Given the description of an element on the screen output the (x, y) to click on. 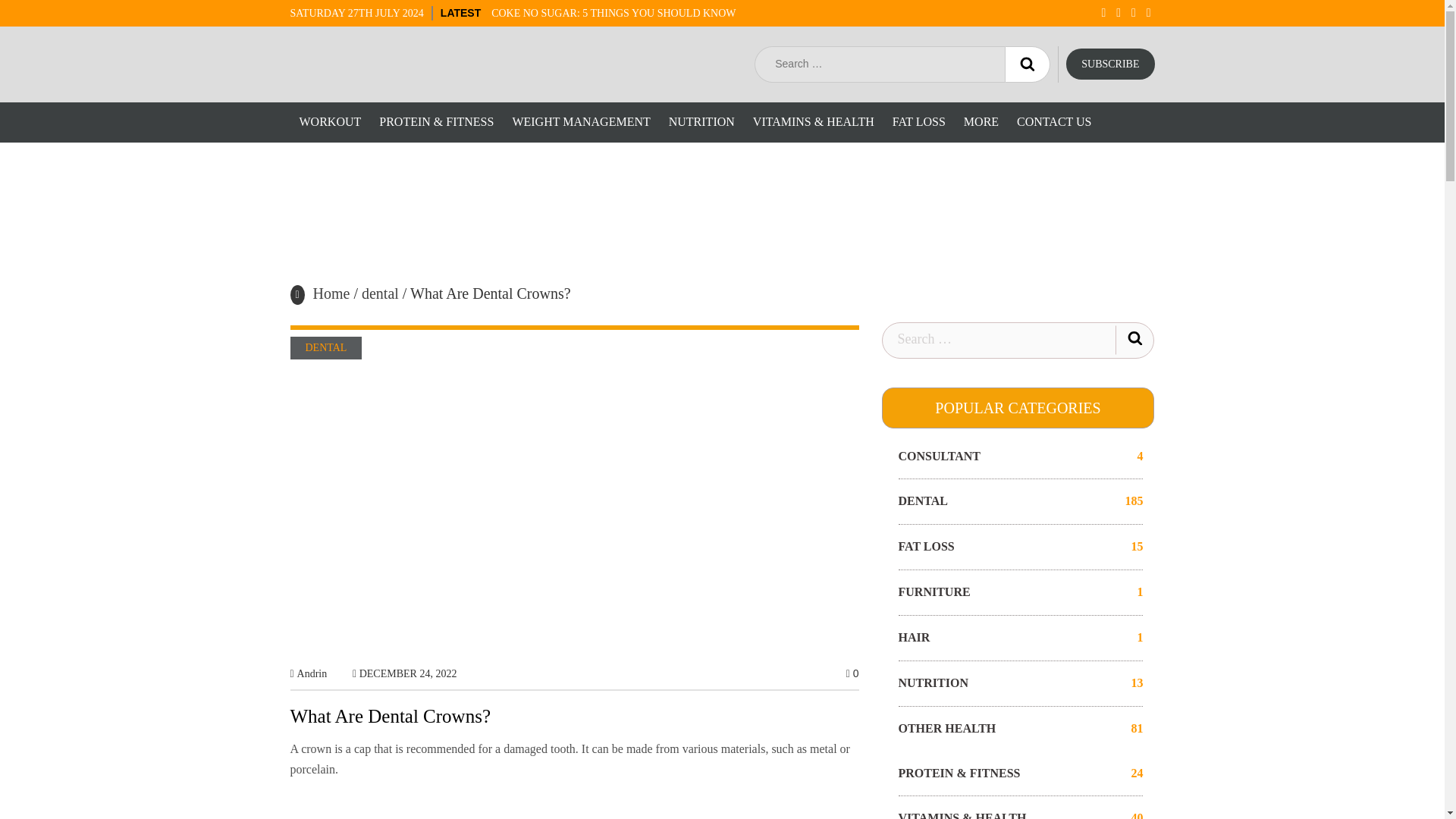
NUTRITION (701, 122)
DENTAL (325, 347)
Home (331, 293)
COKE NO SUGAR: 5 THINGS YOU SHOULD KNOW (613, 12)
CONTACT US (1053, 122)
WEIGHT MANAGEMENT (580, 122)
FAT LOSS (919, 122)
SUBSCRIBE (1109, 63)
dental (379, 293)
MORE (981, 122)
WORKOUT (329, 122)
Andrin (312, 673)
Andrin (312, 673)
